Given the description of an element on the screen output the (x, y) to click on. 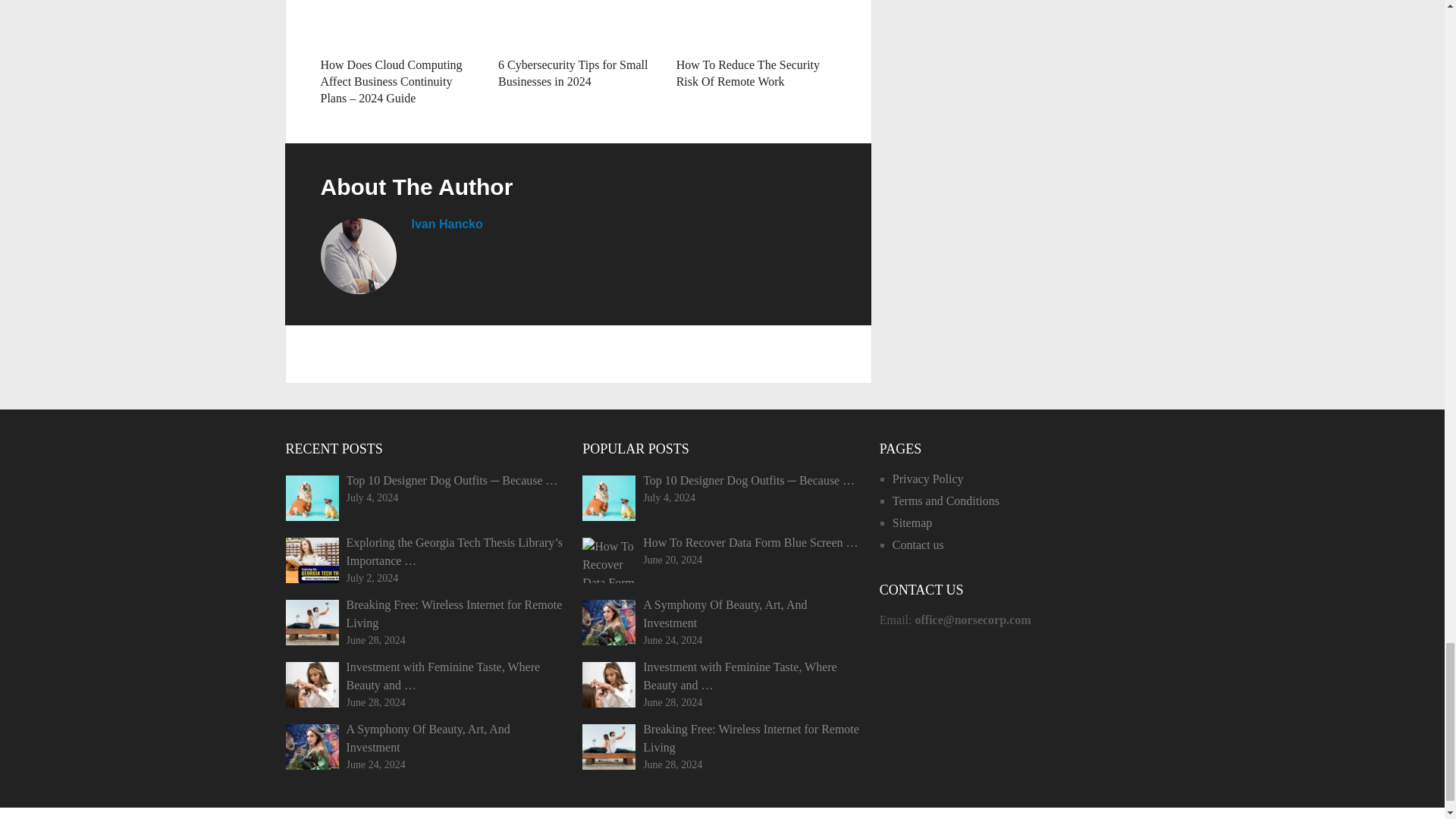
Ivan Hancko (445, 223)
6 Cybersecurity Tips for Small Businesses in 2024 (577, 24)
How To Reduce The Security Risk Of Remote Work (756, 24)
6 Cybersecurity Tips for Small Businesses in 2024 (572, 72)
How To Reduce The Security Risk Of Remote Work (748, 72)
How To Reduce The Security Risk Of Remote Work (748, 72)
6 Cybersecurity Tips for Small Businesses in 2024 (572, 72)
